Given the description of an element on the screen output the (x, y) to click on. 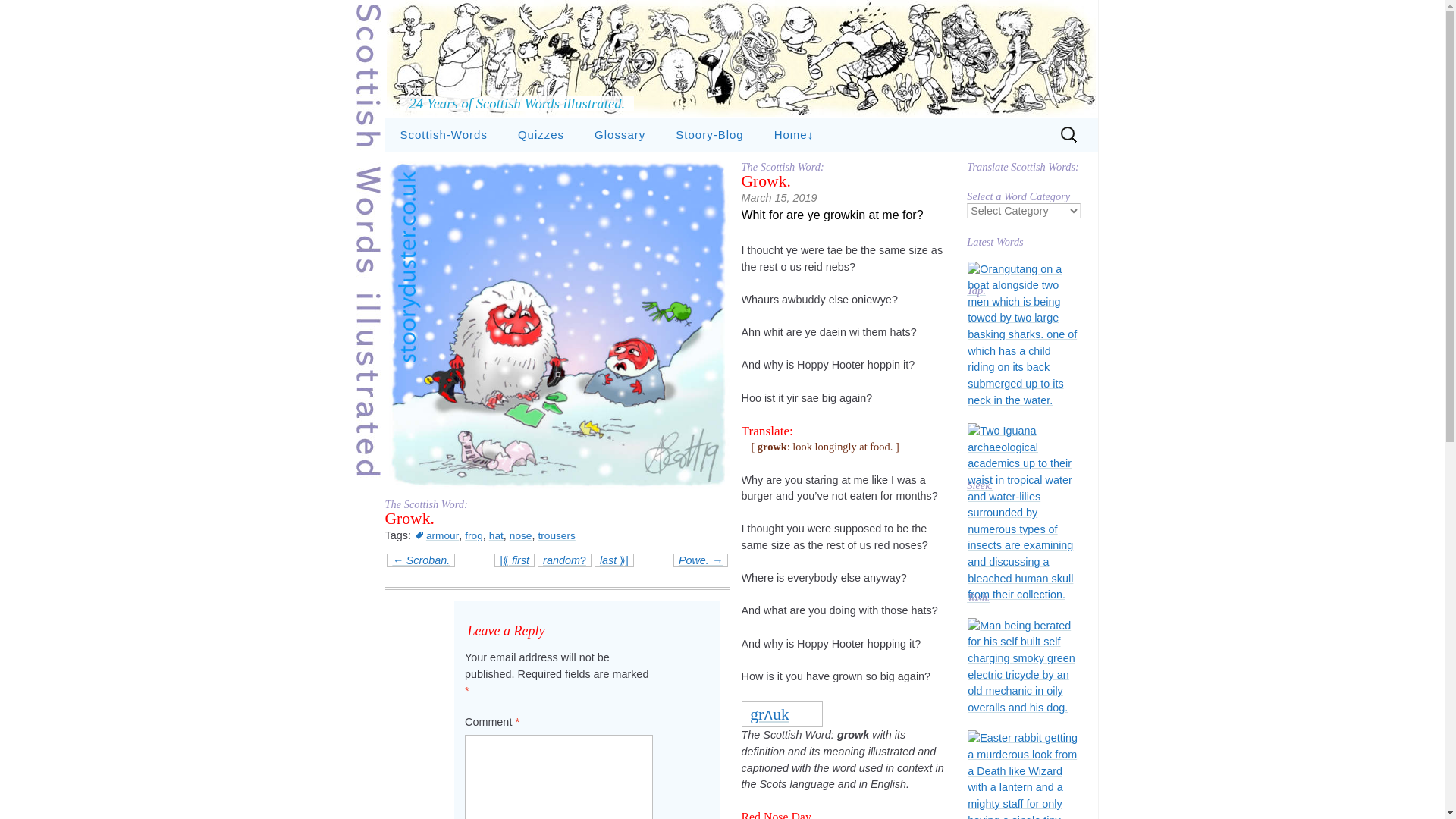
random? (564, 560)
Permanent Link to Sleek. (1023, 512)
Permanent Link to Tosh. (1023, 597)
Glossary (620, 134)
Scottish Words Illustrated (741, 58)
Search (18, 13)
Go to a word at random. (564, 560)
Go to the very first word. (514, 560)
